Given the description of an element on the screen output the (x, y) to click on. 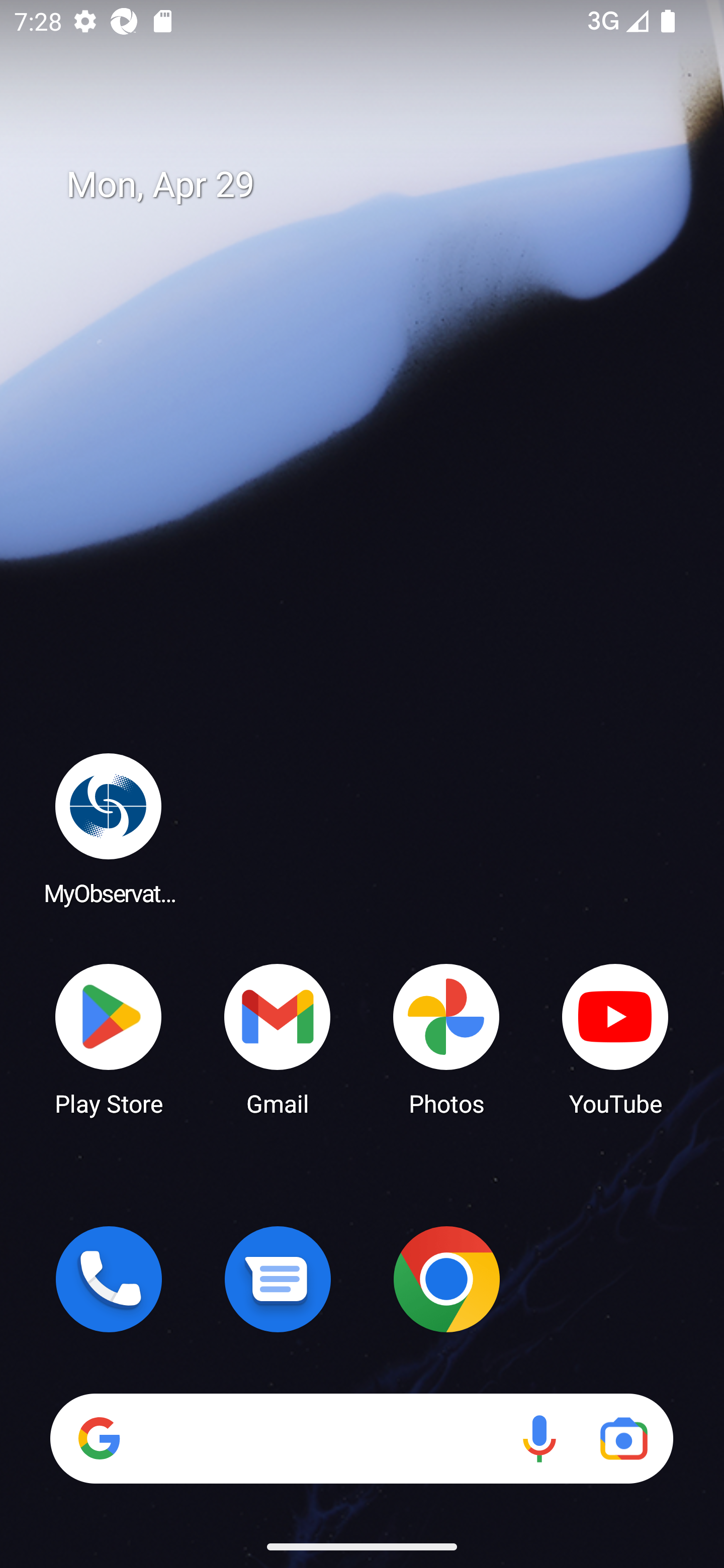
Mon, Apr 29 (375, 184)
MyObservatory (108, 828)
Play Store (108, 1038)
Gmail (277, 1038)
Photos (445, 1038)
YouTube (615, 1038)
Phone (108, 1279)
Messages (277, 1279)
Chrome (446, 1279)
Voice search (539, 1438)
Google Lens (623, 1438)
